Given the description of an element on the screen output the (x, y) to click on. 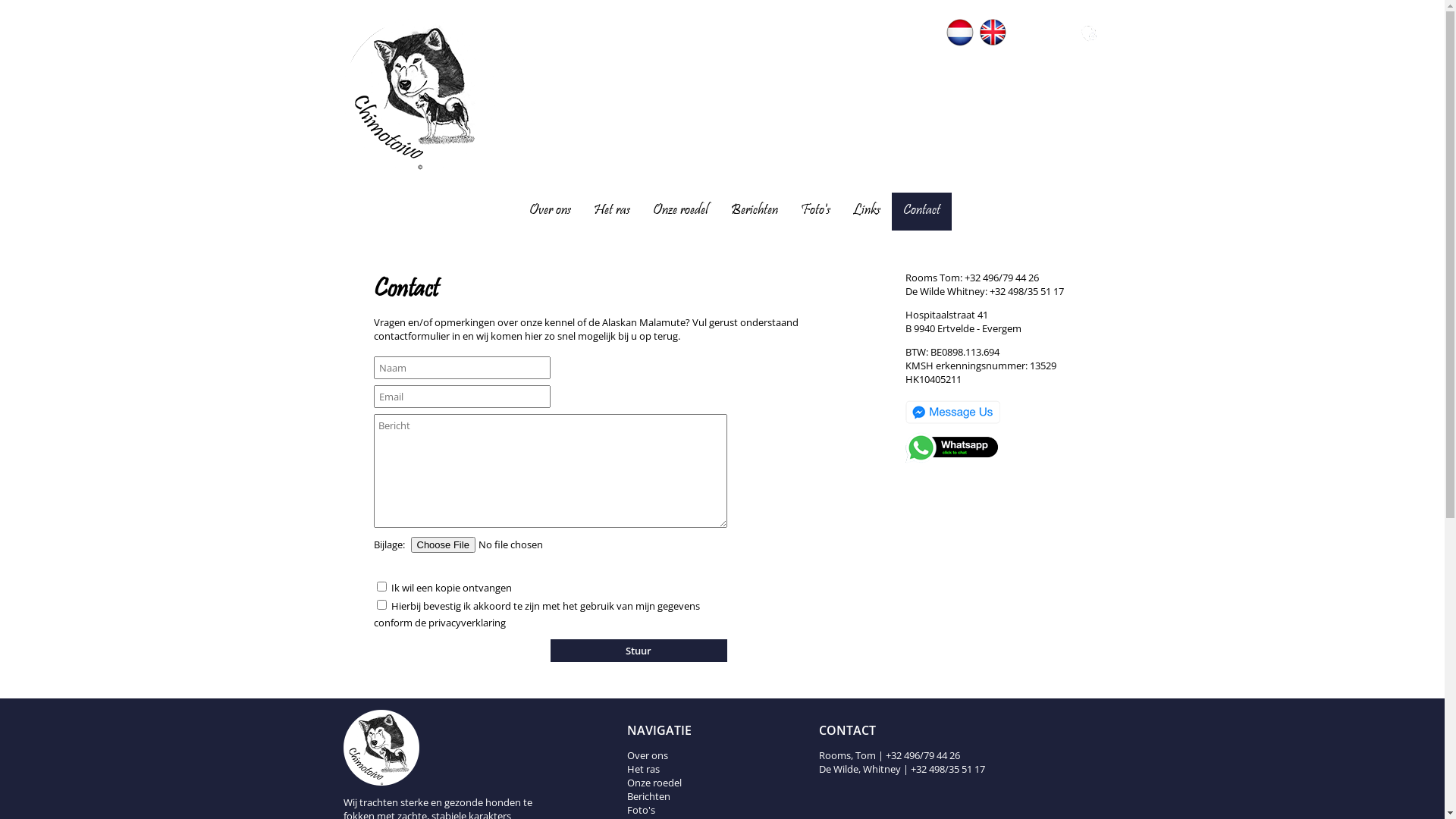
View Chimotoivo in English Element type: hover (992, 42)
GDPR Element type: hover (1088, 33)
Chimotoivo Alaskan Malamute Kennel Element type: hover (418, 94)
Berichten Element type: text (648, 796)
Over ons Element type: text (550, 211)
Het ras Element type: text (643, 768)
Chimotoivo Facebook Element type: hover (1024, 33)
Bekijk Chimotoivo in het Nederlands Element type: hover (959, 42)
Chimotoivo Youtube Element type: hover (1056, 42)
Onze roedel Element type: text (679, 211)
Chimotoivo Alaskan Malamute Element type: hover (437, 747)
Chimotoivo Youtube Element type: hover (1056, 33)
Privacy policy Element type: hover (1088, 42)
privacyverklaring Element type: text (466, 622)
Foto's Element type: text (641, 809)
Foto's Element type: text (815, 211)
Chat met ons Element type: hover (952, 424)
Links Element type: text (865, 211)
Berichten Element type: text (754, 211)
Chimotoivo Nederlands Element type: hover (959, 32)
Chat met ons Element type: hover (952, 460)
Onze roedel Element type: text (654, 782)
Het ras Element type: text (611, 211)
Chimotoivo Facebook Element type: hover (1024, 42)
Stuur Element type: text (638, 650)
Contact Element type: text (920, 211)
Over ons Element type: text (647, 755)
Chimotoivo Alaskan Malamute Kennel Element type: hover (418, 166)
Chimotoivo English Element type: hover (992, 32)
